Given the description of an element on the screen output the (x, y) to click on. 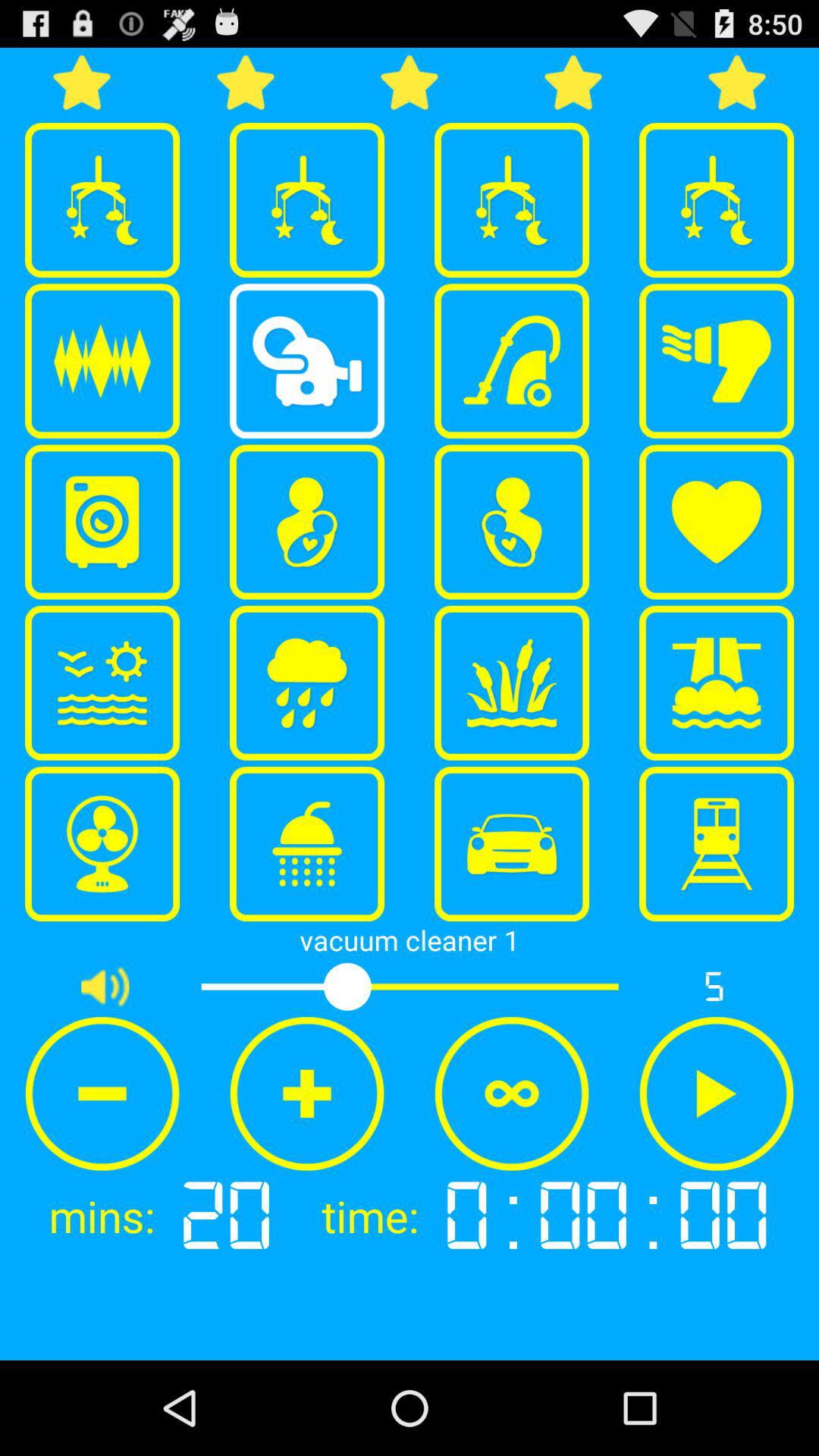
tap the item above vacuum cleaner 1 icon (511, 843)
